Given the description of an element on the screen output the (x, y) to click on. 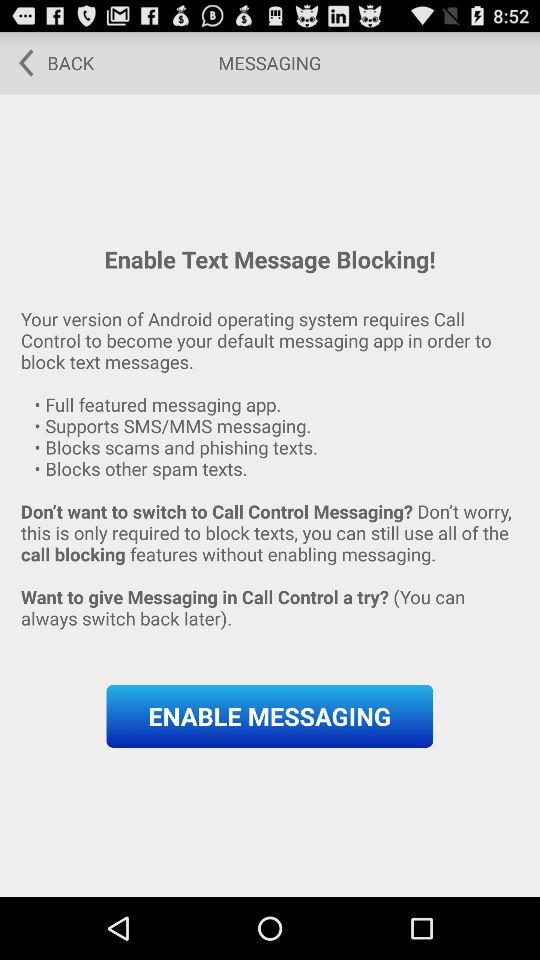
jump until enable messaging (269, 715)
